Given the description of an element on the screen output the (x, y) to click on. 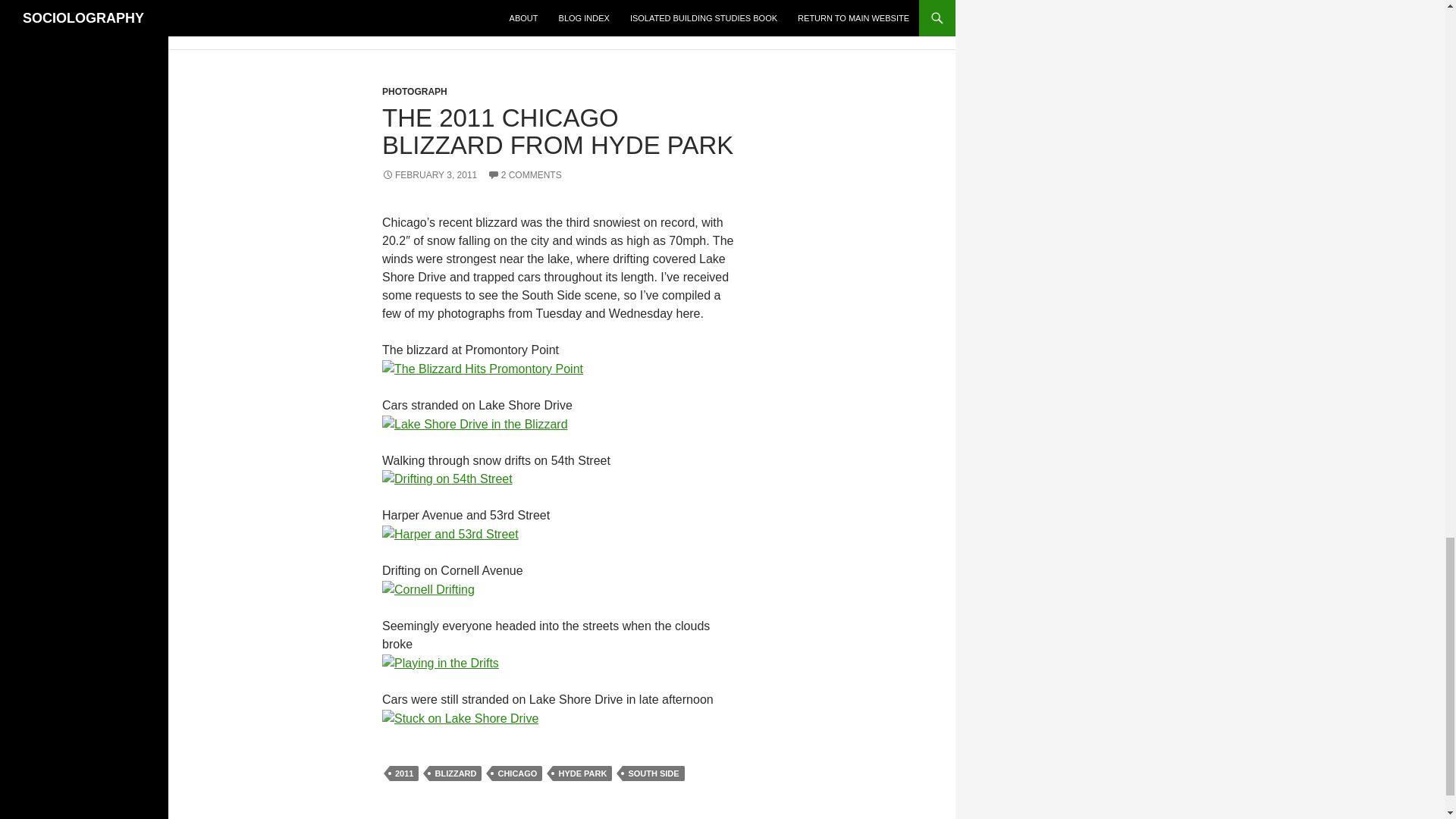
Stuck on Lake Shore Drive by metroblossom, on Flickr (459, 717)
STREETSCAPE (425, 5)
Harper and 53rd Street by metroblossom, on Flickr (449, 533)
Drifting on 54th Street by metroblossom, on Flickr (446, 478)
THE 2011 CHICAGO BLIZZARD FROM HYDE PARK (557, 131)
Playing in the Drifts by metroblossom, on Flickr (440, 662)
Lake Shore Drive in the Blizzard by metroblossom, on Flickr (474, 422)
Cornell Drifting by metroblossom, on Flickr (427, 588)
WINTER (493, 5)
PHOTOGRAPH (413, 91)
